Given the description of an element on the screen output the (x, y) to click on. 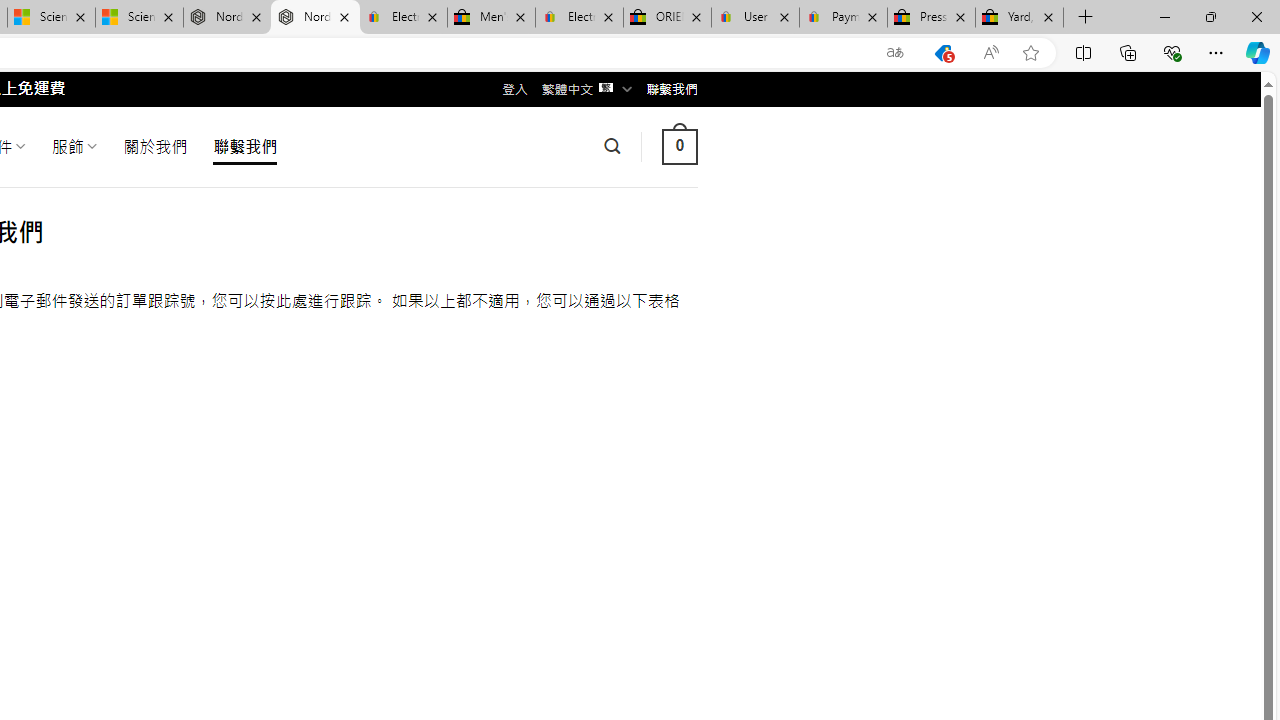
Press Room - eBay Inc. (931, 17)
Show translate options (895, 53)
